Given the description of an element on the screen output the (x, y) to click on. 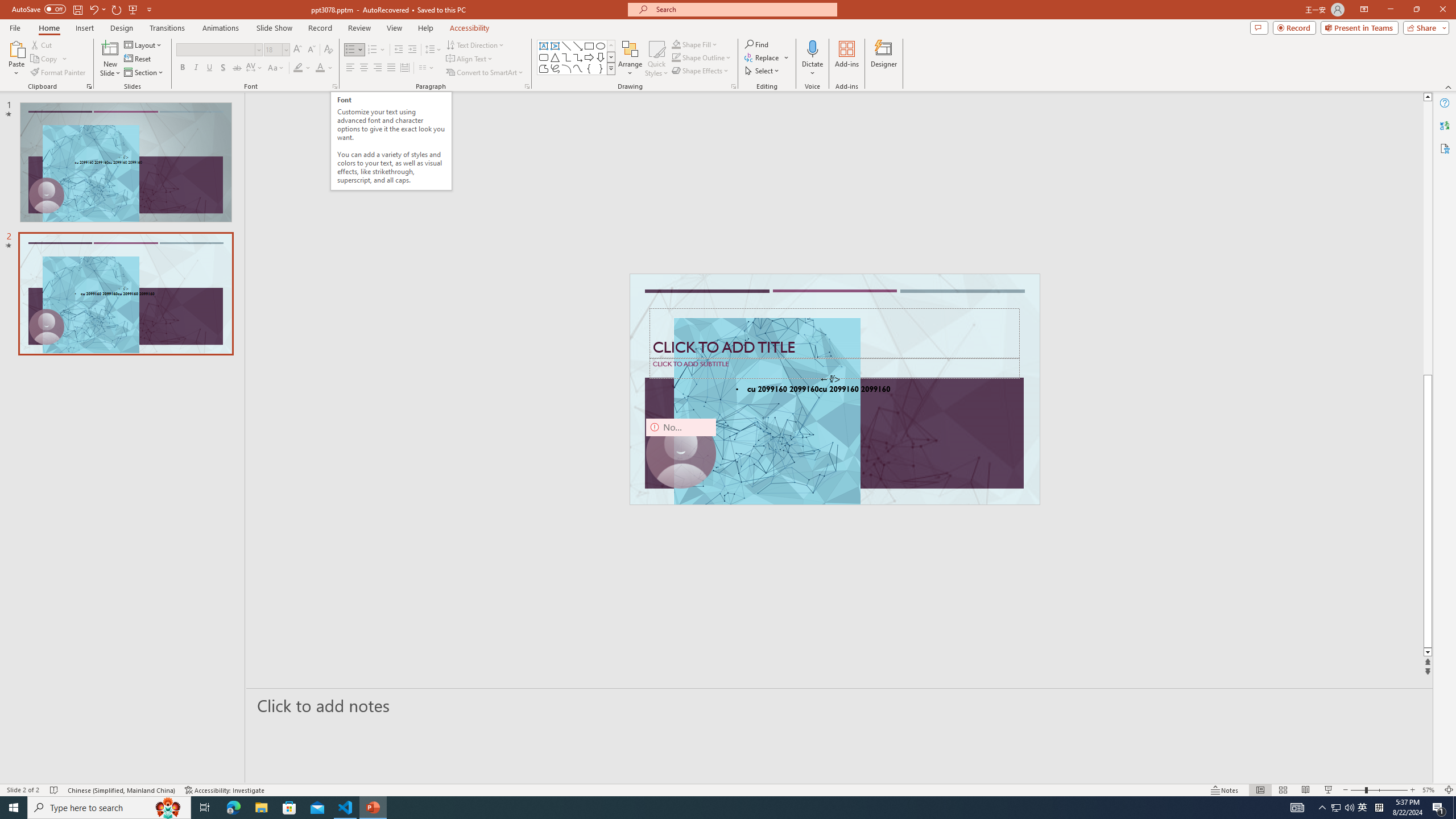
Vertical Text Box (554, 45)
Paragraph... (526, 85)
Row up (611, 45)
AutoSave (38, 9)
Class: MsoCommandBar (728, 789)
Office Clipboard... (88, 85)
Line up (1427, 96)
Design (122, 28)
TextBox 7 (830, 379)
Character Spacing (254, 67)
Cut (42, 44)
Accessibility (1444, 147)
File Tab (15, 27)
